Given the description of an element on the screen output the (x, y) to click on. 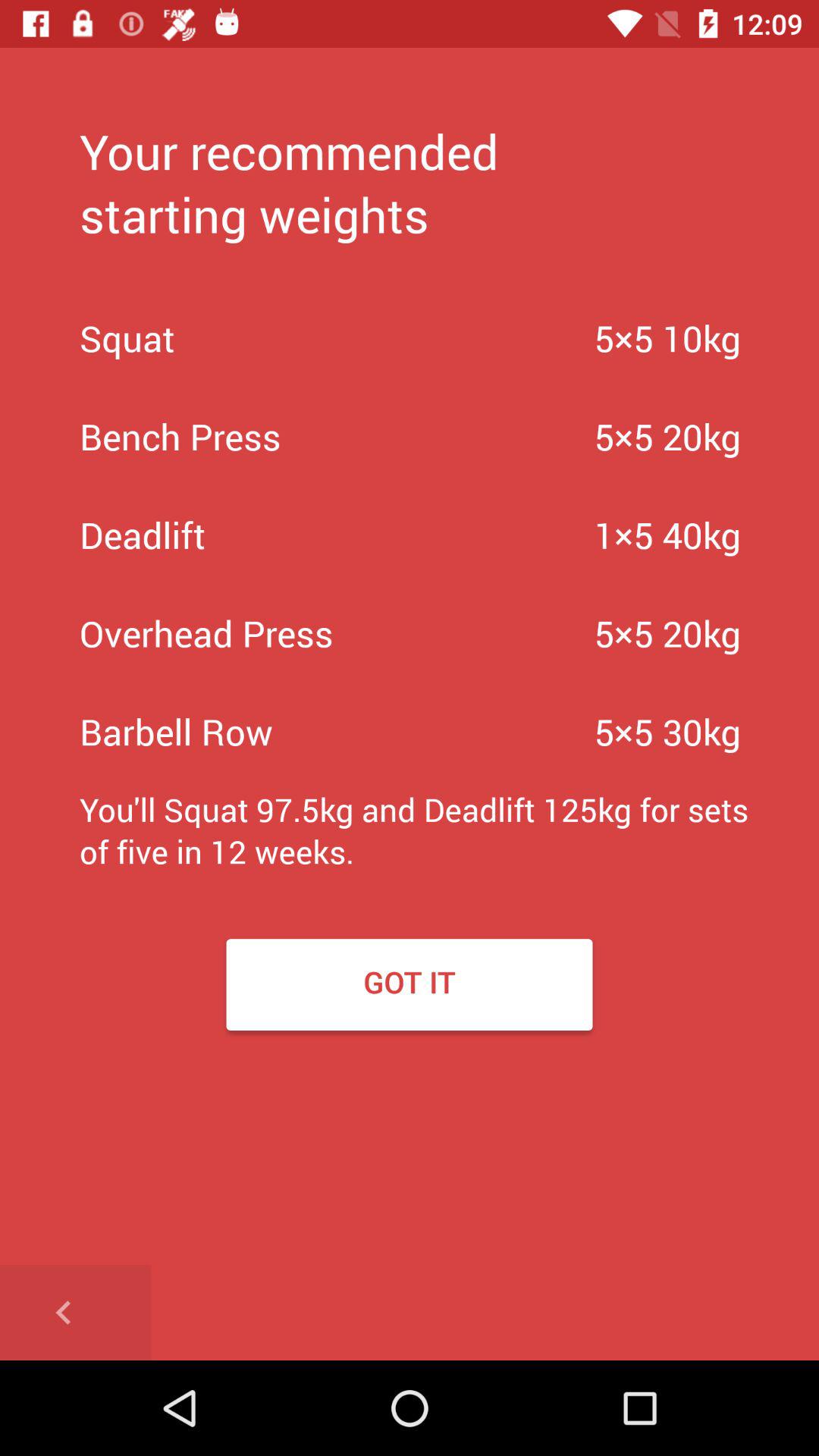
jump to the got it item (409, 984)
